Given the description of an element on the screen output the (x, y) to click on. 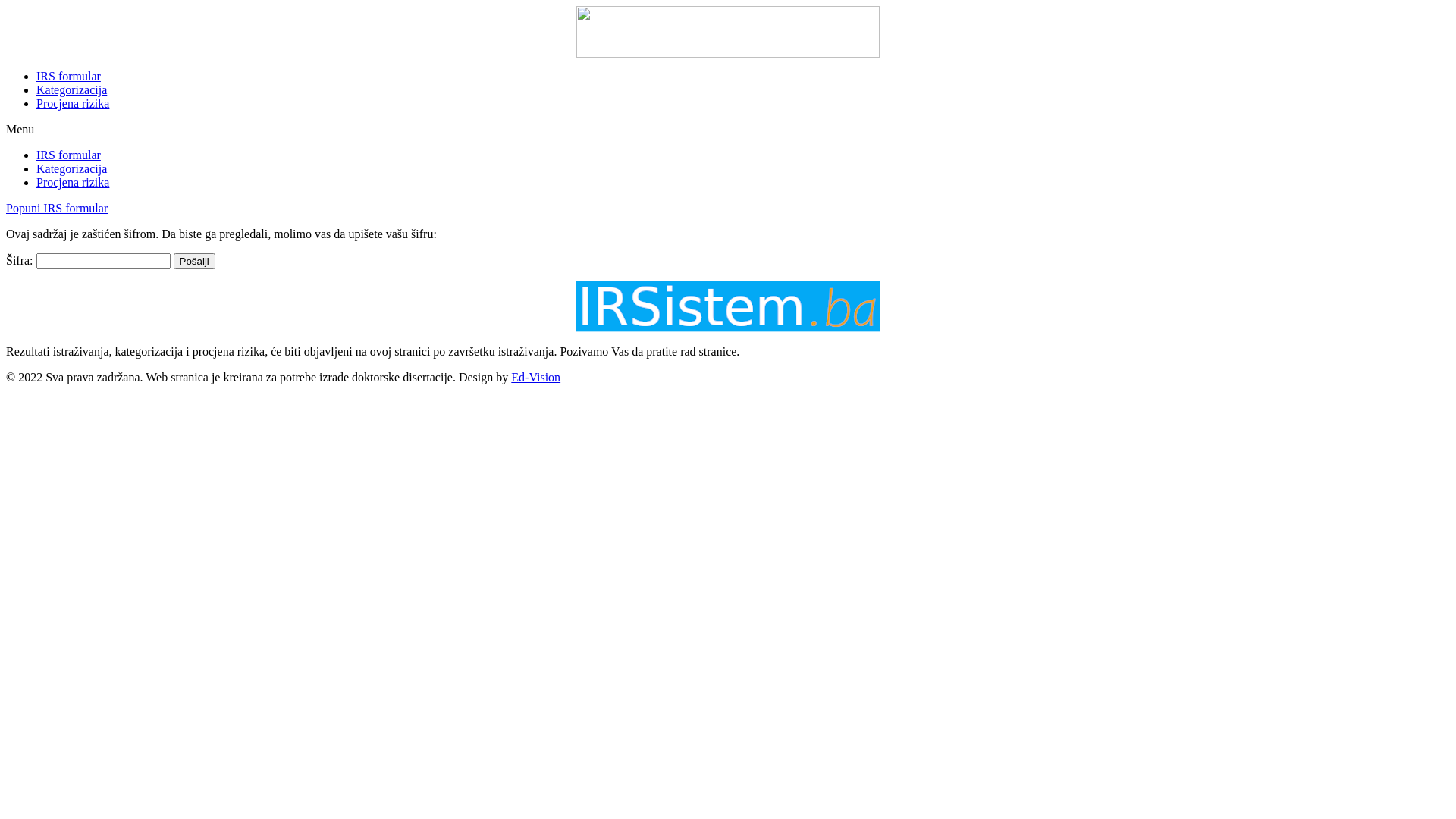
Ed-Vision Element type: text (535, 376)
Popuni IRS formular Element type: text (56, 207)
Procjena rizika Element type: text (72, 103)
irsistem_logo_01 Element type: hover (727, 306)
IRS formular Element type: text (68, 75)
IRS formular Element type: text (68, 154)
Kategorizacija Element type: text (71, 168)
Procjena rizika Element type: text (72, 181)
Kategorizacija Element type: text (71, 89)
